Given the description of an element on the screen output the (x, y) to click on. 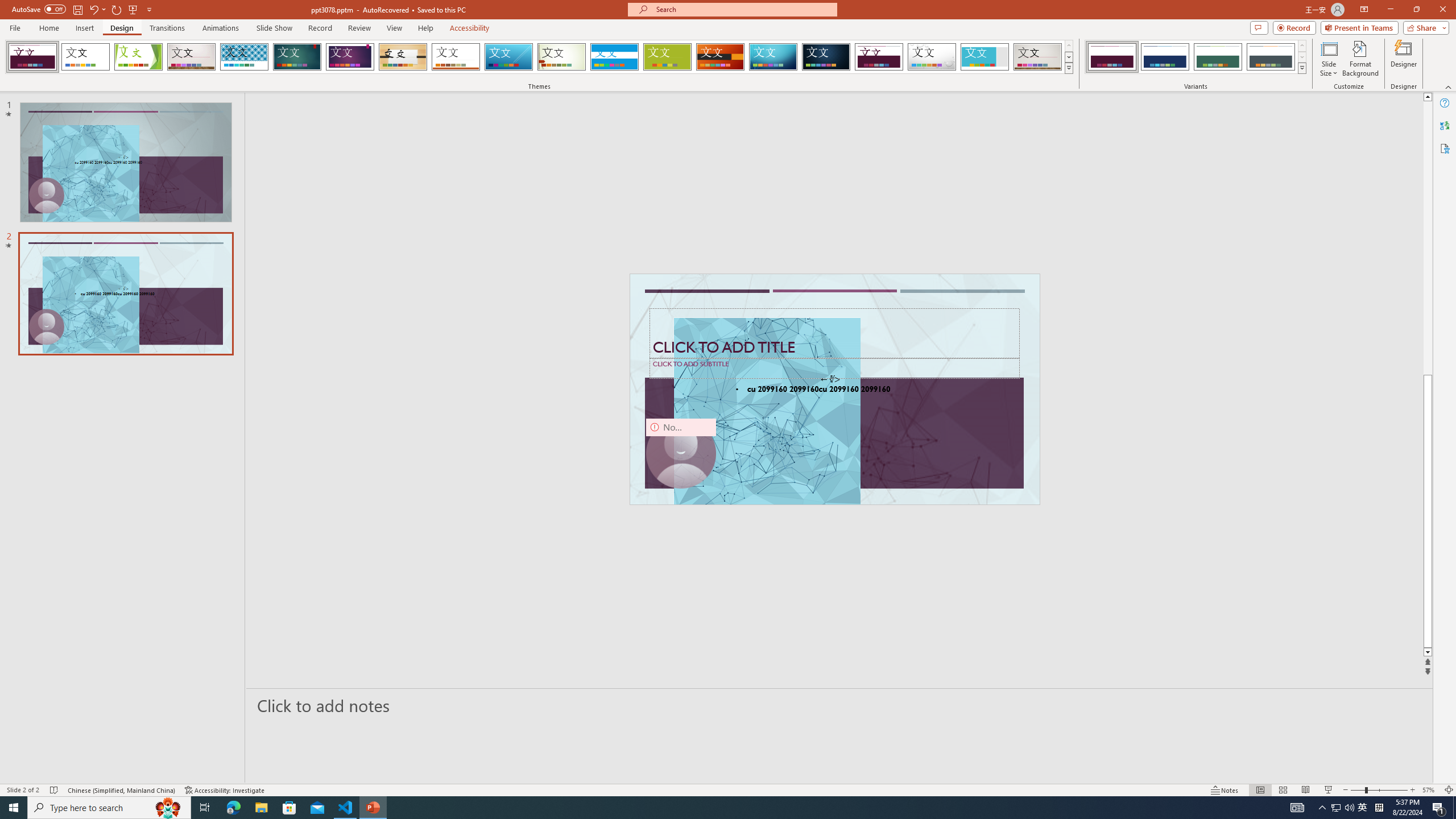
TextBox 61 (833, 390)
AutomationID: SlideThemesGallery (539, 56)
Office Theme (85, 56)
Retrospect (455, 56)
Dividend (879, 56)
